Given the description of an element on the screen output the (x, y) to click on. 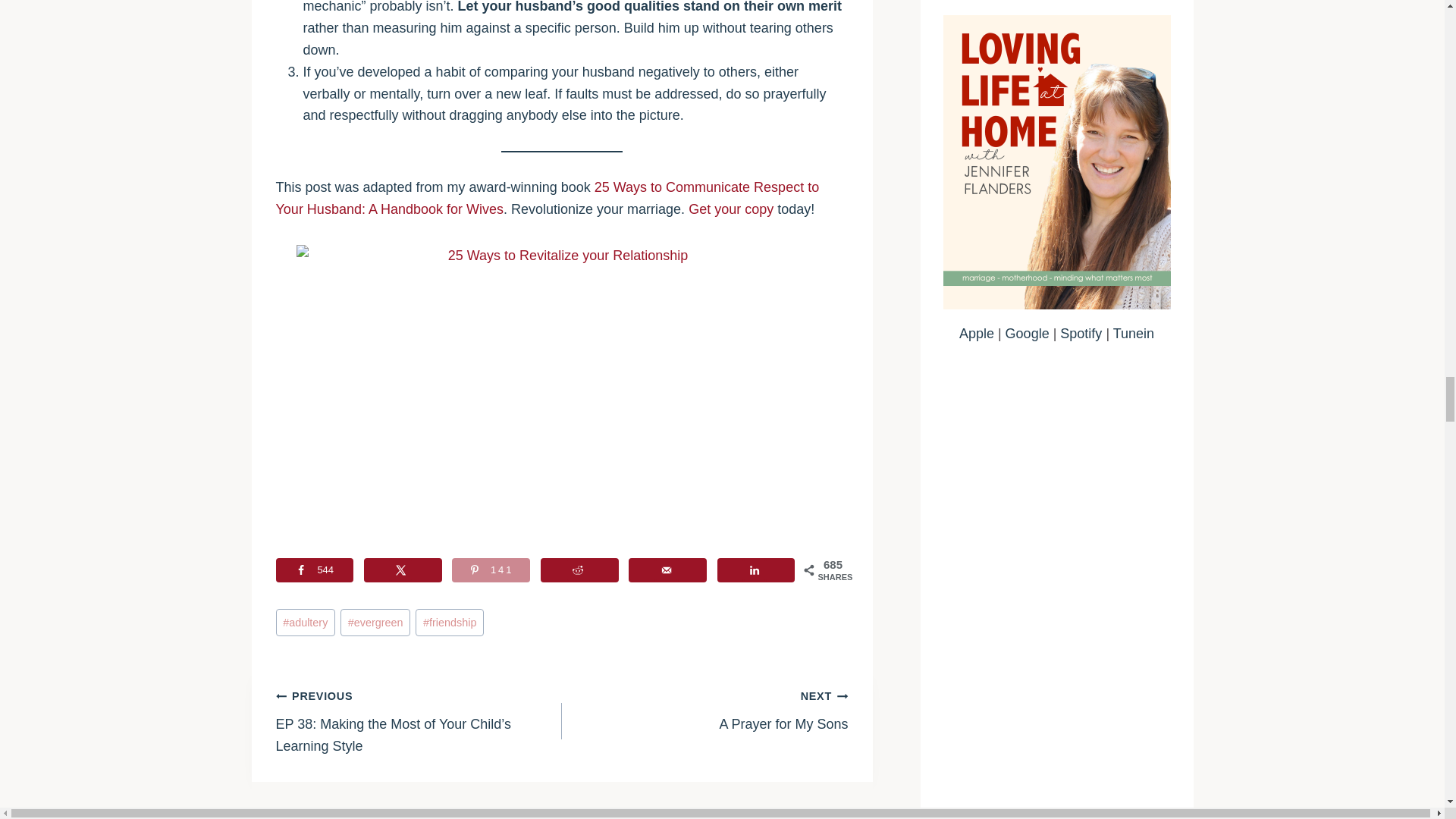
adultery (305, 623)
friendship (448, 623)
evergreen (375, 623)
Save to Pinterest (490, 569)
Send over email (667, 569)
Share on LinkedIn (755, 569)
Share on Facebook (314, 569)
Share on X (403, 569)
Share on Reddit (579, 569)
